Given the description of an element on the screen output the (x, y) to click on. 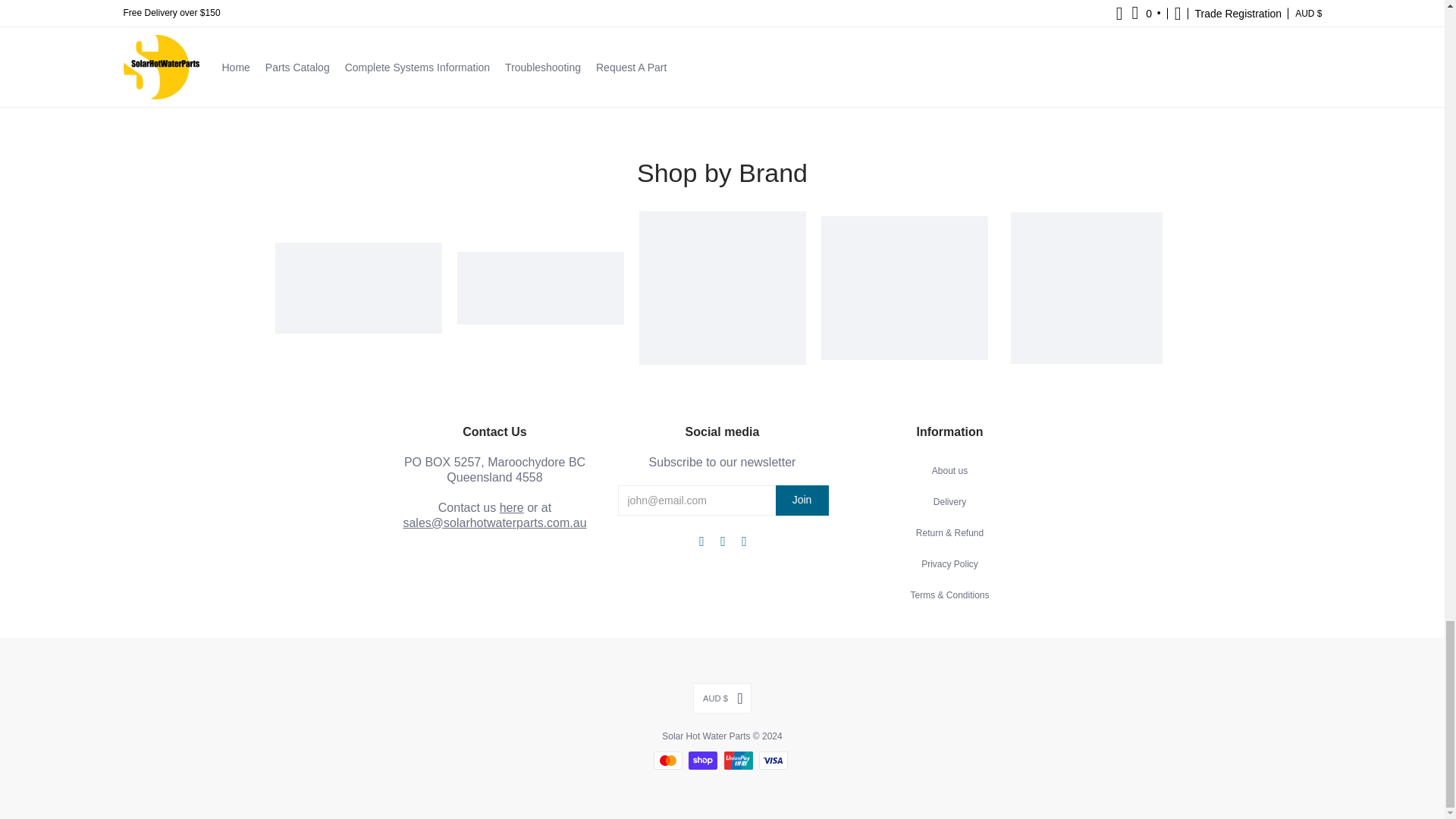
Mastercard (667, 760)
Union Pay (737, 760)
Add to Cart (835, 11)
Add to Cart (608, 11)
Visa (772, 760)
Join (801, 500)
Shop Pay (702, 760)
